Given the description of an element on the screen output the (x, y) to click on. 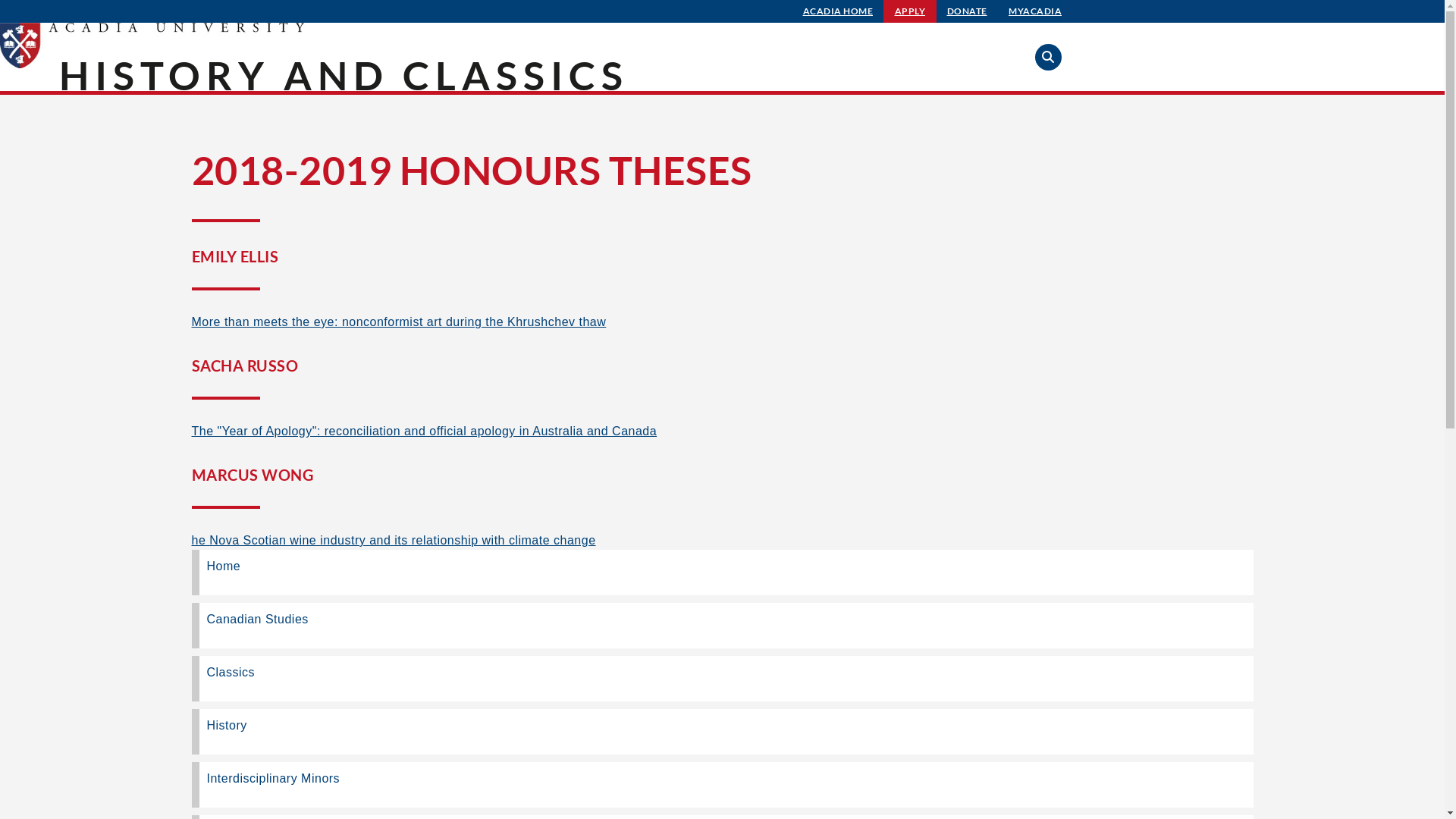
ACADIA HOME Element type: text (837, 11)
APPLY Element type: text (909, 11)
HISTORY AND CLASSICS Element type: text (343, 74)
DONATE Element type: text (966, 11)
MYACADIA Element type: text (1035, 11)
Classics Element type: text (721, 678)
History Element type: text (721, 731)
Canadian Studies Element type: text (721, 625)
Interdisciplinary Minors Element type: text (721, 784)
Home Element type: text (721, 572)
